Given the description of an element on the screen output the (x, y) to click on. 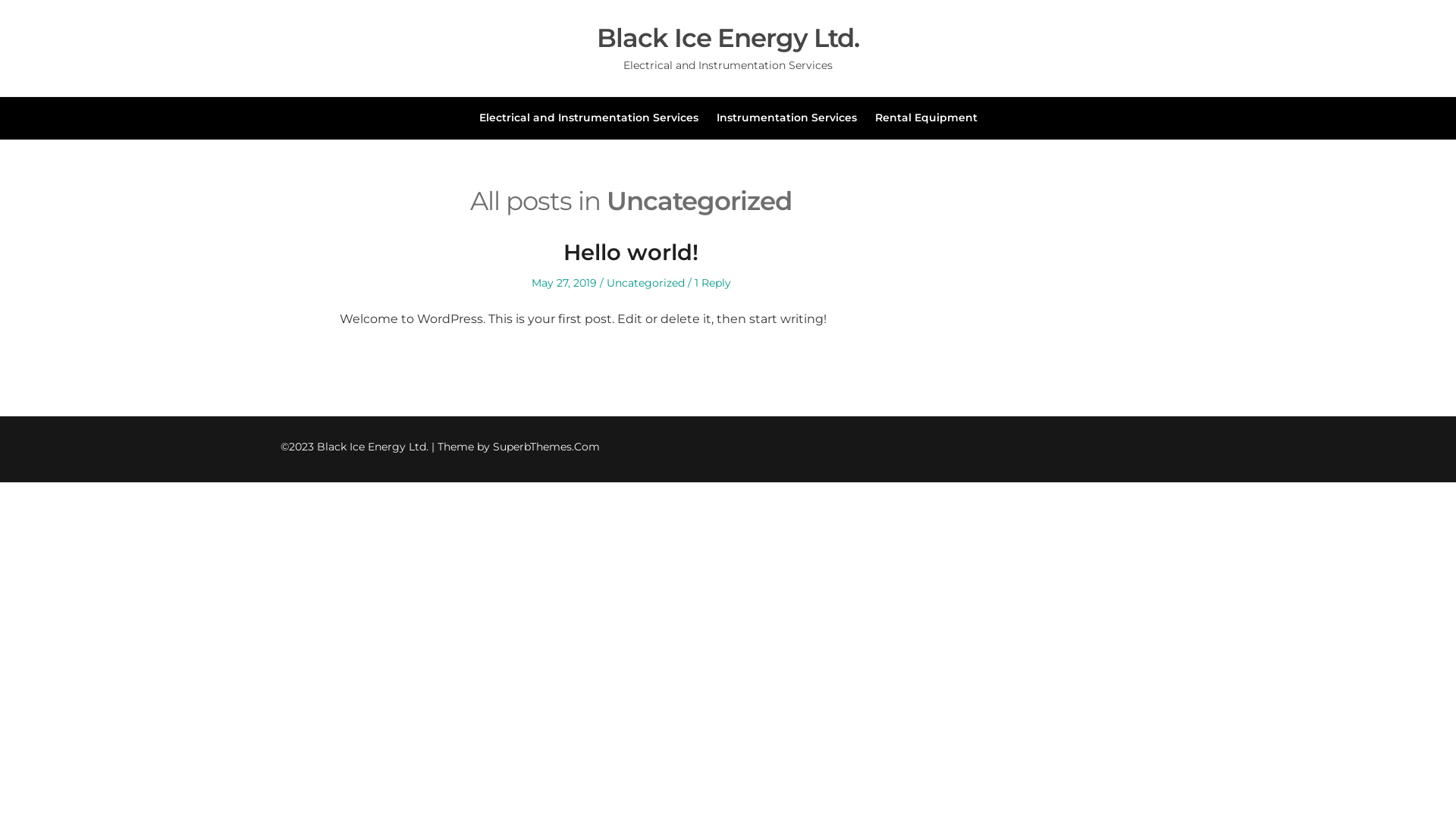
SuperbThemes.Com Element type: text (545, 446)
Uncategorized Element type: text (645, 282)
Rental Equipment Element type: text (926, 117)
Electrical and Instrumentation Services Element type: text (588, 117)
1 Reply Element type: text (712, 282)
Black Ice Energy Ltd. Element type: text (727, 37)
Instrumentation Services Element type: text (785, 117)
Back To Top Element type: hover (1173, 447)
May 27, 2019 Element type: text (563, 282)
Hello world! Element type: text (630, 251)
